Given the description of an element on the screen output the (x, y) to click on. 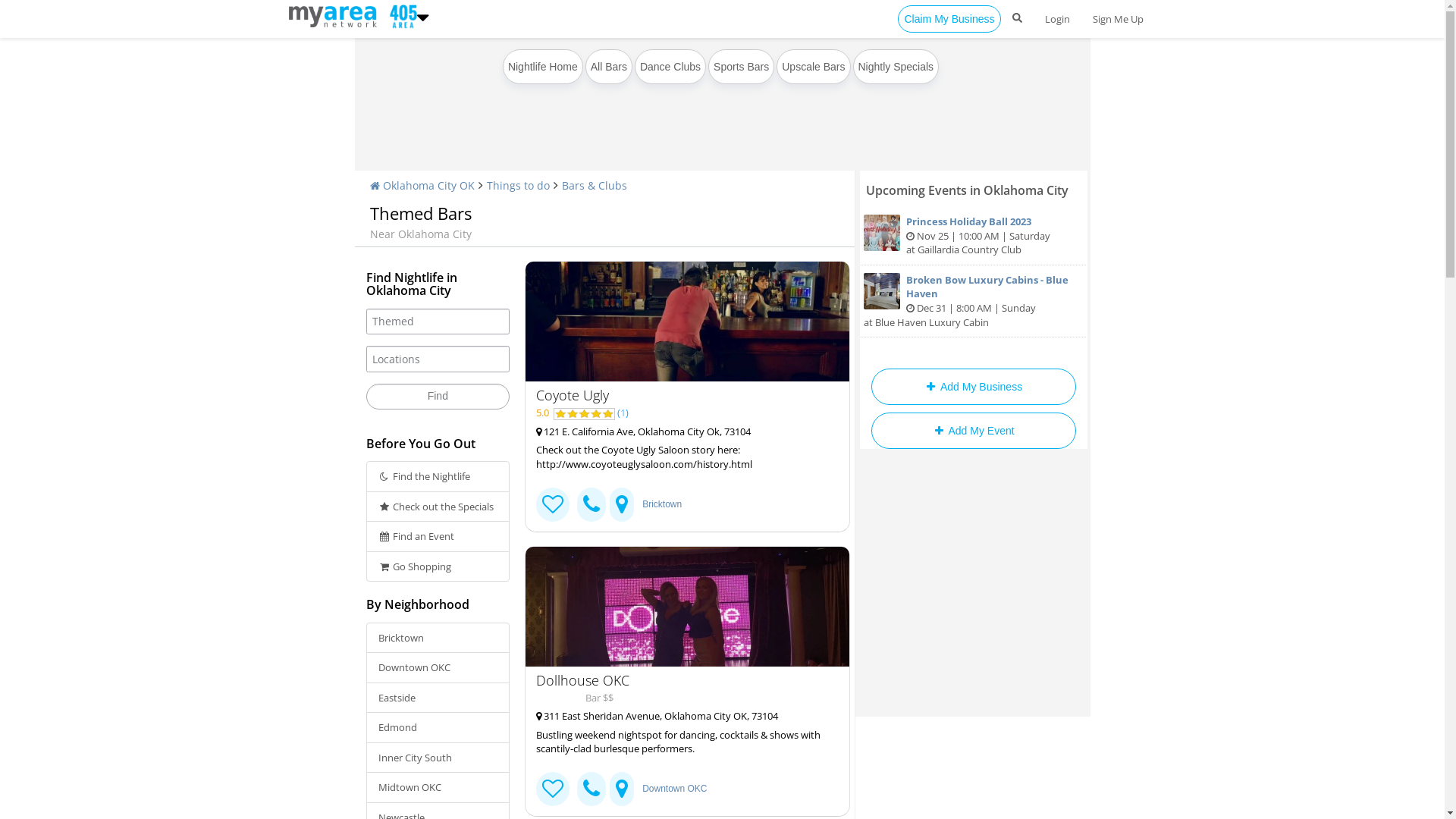
Business Location Element type: hover (621, 504)
All Bars Element type: text (608, 66)
Sign Me Up Element type: text (1117, 18)
Connect Element type: hover (552, 504)
Nightly Specials Element type: text (895, 66)
Connect Element type: hover (552, 788)
Dollhouse OKC Element type: text (680, 679)
https://www.405area.com Element type: hover (335, 15)
Inner City South Element type: text (437, 757)
Dollhouse OKC Element type: hover (687, 606)
Add My Business Element type: text (972, 386)
Business Location Element type: hover (621, 788)
Go Shopping Element type: text (437, 566)
Add My Event Element type: text (972, 430)
Edmond Element type: text (437, 727)
Claim My Business Element type: text (948, 18)
Check out the Specials Element type: text (437, 506)
Upscale Bars Element type: text (813, 66)
Find an Event Element type: text (437, 536)
121 E. California Ave, Oklahoma City Ok, 73104 Element type: text (680, 431)
Bars & Clubs Element type: text (593, 185)
Find the Nightlife Element type: text (437, 476)
Sports Bars Element type: text (741, 66)
Downtown OKC Element type: text (437, 667)
Find Element type: text (437, 396)
Dance Clubs Element type: text (670, 66)
Coyote Ugly Element type: text (680, 394)
Midtown OKC Element type: text (437, 787)
Bricktown Element type: text (661, 503)
Login Element type: text (1056, 18)
Coyote Ugly Element type: hover (687, 321)
Bricktown Element type: text (437, 637)
Nightlife Home Element type: text (542, 66)
https://www.405area.com Element type: hover (400, 15)
Downtown OKC Element type: text (674, 788)
Oklahoma City OK Element type: text (422, 185)
Things to do Element type: text (517, 185)
tel:1405664775 Element type: hover (591, 788)
tel:405-602-8459 Element type: hover (591, 504)
Eastside Element type: text (437, 697)
311 East Sheridan Avenue, Oklahoma City OK, 73104 Element type: text (680, 716)
Upcoming Events in Oklahoma City Element type: text (967, 190)
